Given the description of an element on the screen output the (x, y) to click on. 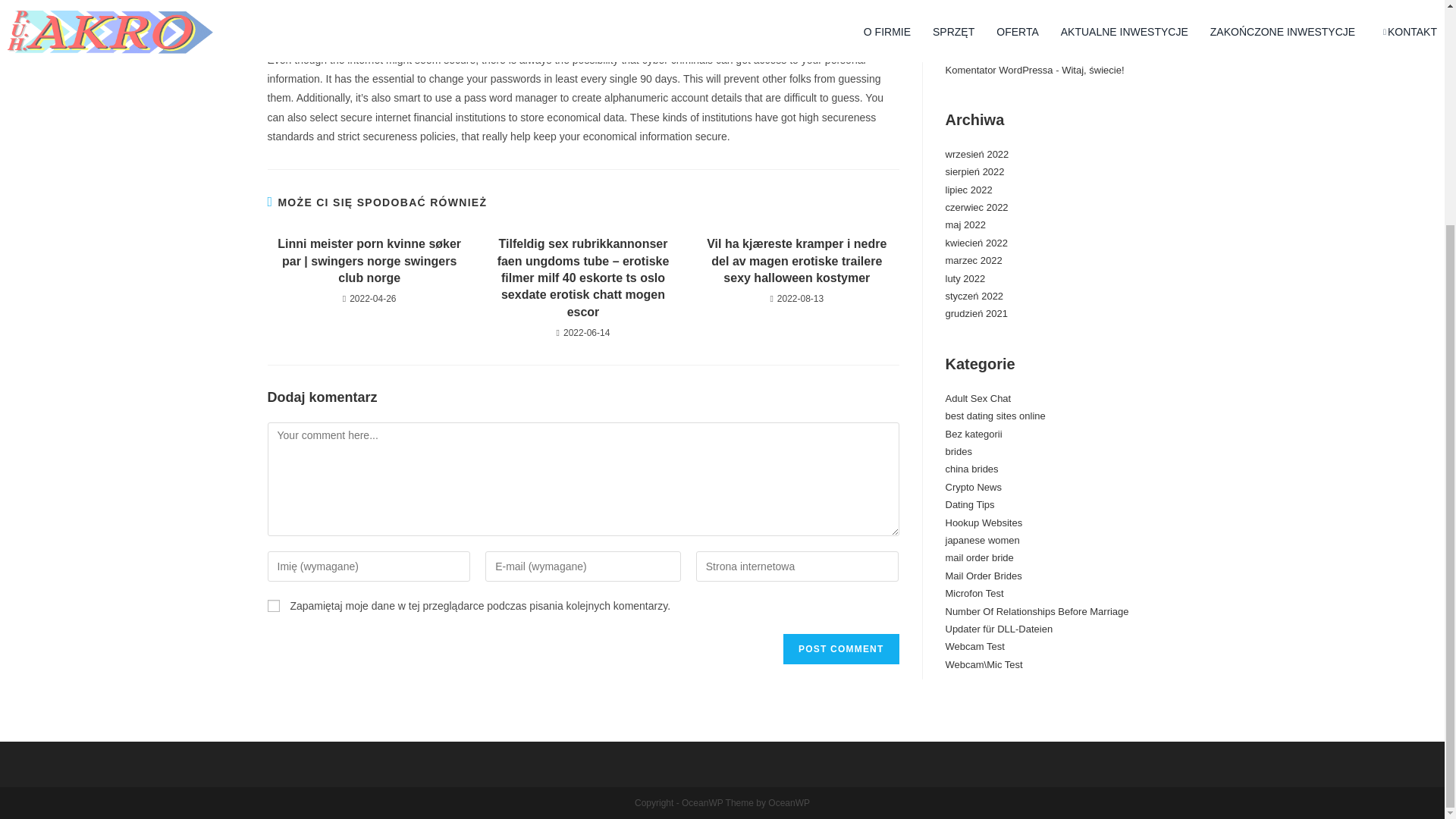
Komentator WordPressa (998, 70)
marzec 2022 (972, 260)
brides (957, 451)
Bez kategorii (972, 433)
luty 2022 (964, 278)
Adult Sex Chat (977, 398)
lipiec 2022 (967, 189)
czerwiec 2022 (975, 206)
yes (272, 605)
Post Comment (840, 648)
